Given the description of an element on the screen output the (x, y) to click on. 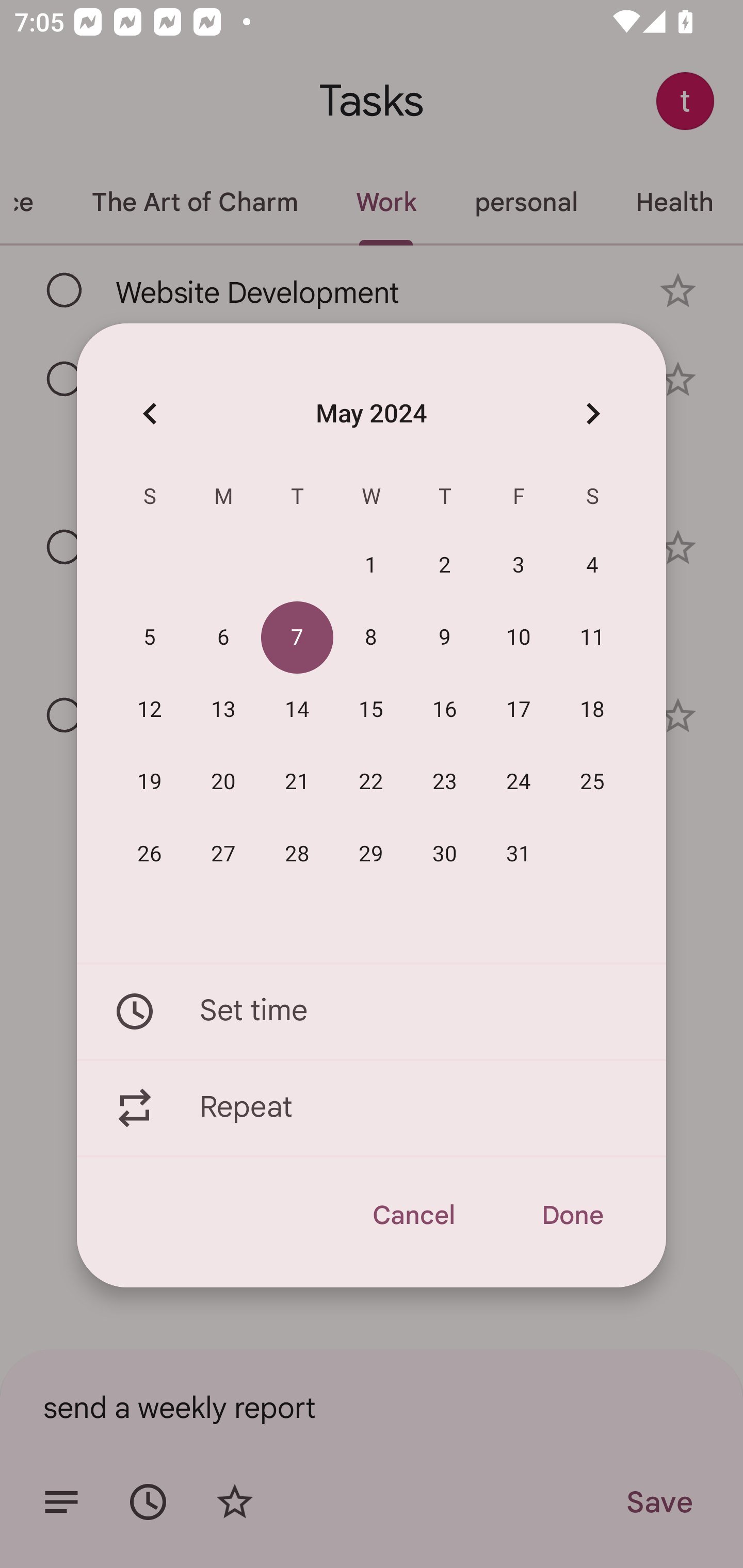
Previous month (149, 413)
Next month (592, 413)
1 01 May 2024 (370, 565)
2 02 May 2024 (444, 565)
3 03 May 2024 (518, 565)
4 04 May 2024 (592, 565)
5 05 May 2024 (149, 638)
6 06 May 2024 (223, 638)
7 07 May 2024 (297, 638)
8 08 May 2024 (370, 638)
9 09 May 2024 (444, 638)
10 10 May 2024 (518, 638)
11 11 May 2024 (592, 638)
12 12 May 2024 (149, 710)
13 13 May 2024 (223, 710)
14 14 May 2024 (297, 710)
15 15 May 2024 (370, 710)
16 16 May 2024 (444, 710)
17 17 May 2024 (518, 710)
18 18 May 2024 (592, 710)
19 19 May 2024 (149, 782)
20 20 May 2024 (223, 782)
21 21 May 2024 (297, 782)
22 22 May 2024 (370, 782)
23 23 May 2024 (444, 782)
24 24 May 2024 (518, 782)
25 25 May 2024 (592, 782)
26 26 May 2024 (149, 854)
27 27 May 2024 (223, 854)
28 28 May 2024 (297, 854)
29 29 May 2024 (370, 854)
30 30 May 2024 (444, 854)
31 31 May 2024 (518, 854)
Set time (371, 1011)
Repeat (371, 1108)
Cancel (412, 1215)
Done (571, 1215)
